Given the description of an element on the screen output the (x, y) to click on. 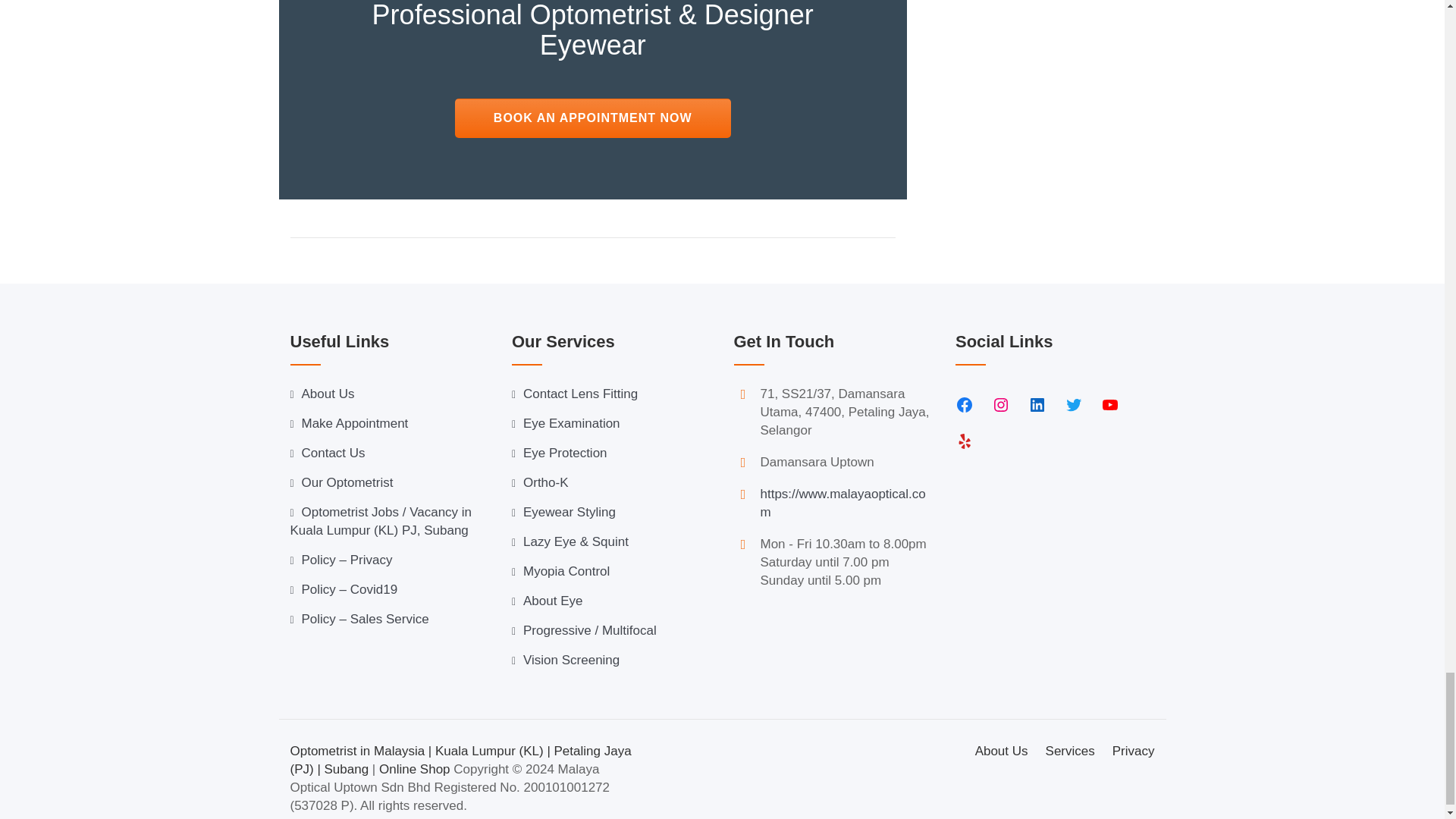
Book an Appointment (592, 118)
